Given the description of an element on the screen output the (x, y) to click on. 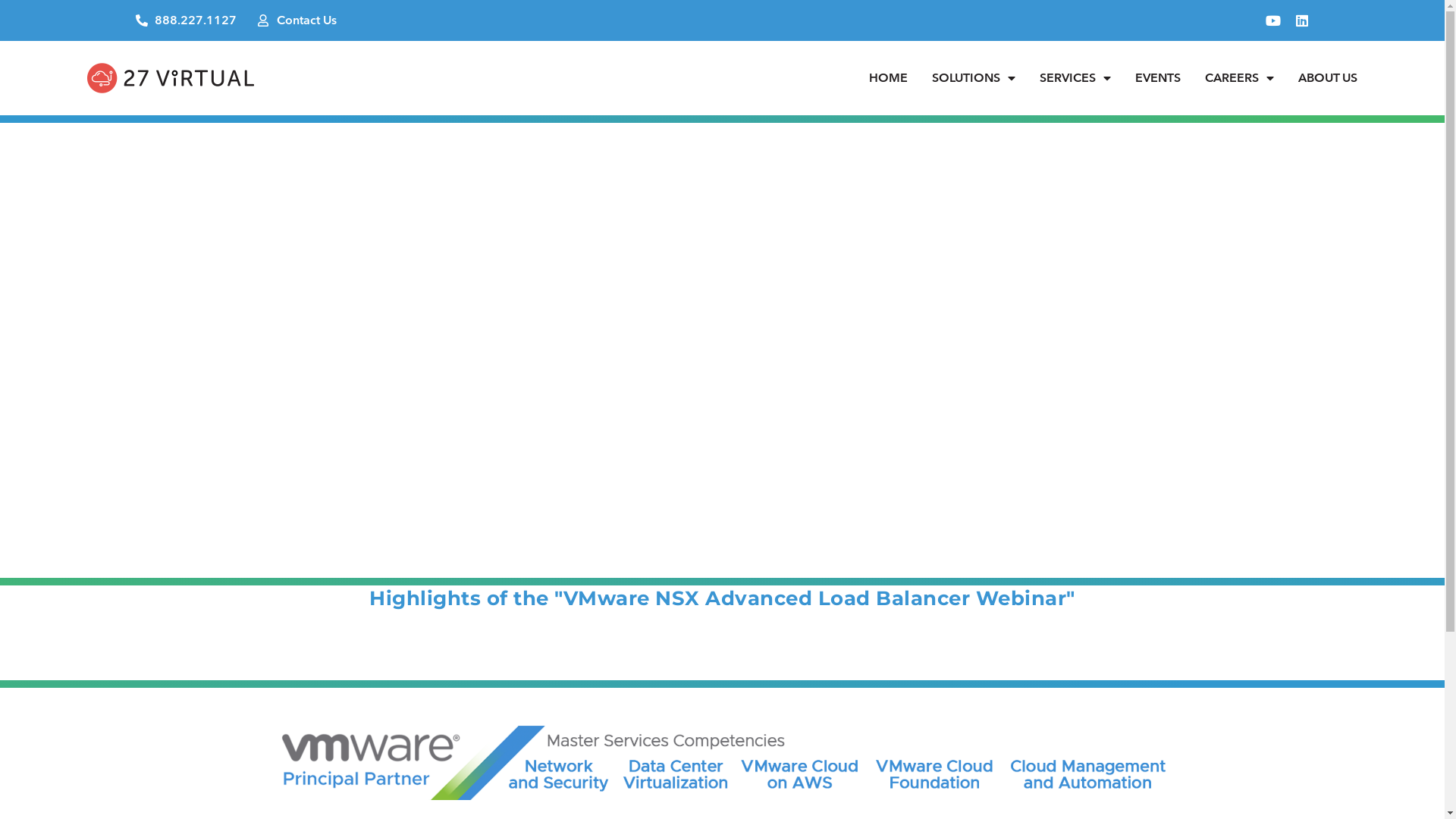
CAREERS Element type: text (1239, 78)
ABOUT US Element type: text (1327, 78)
HOME Element type: text (888, 78)
SOLUTIONS Element type: text (973, 78)
SERVICES Element type: text (1074, 78)
Contact Us Element type: text (296, 20)
Youtube Element type: text (1273, 20)
EVENTS Element type: text (1157, 78)
888.227.1127 Element type: text (185, 20)
Linkedin Element type: text (1301, 20)
